Given the description of an element on the screen output the (x, y) to click on. 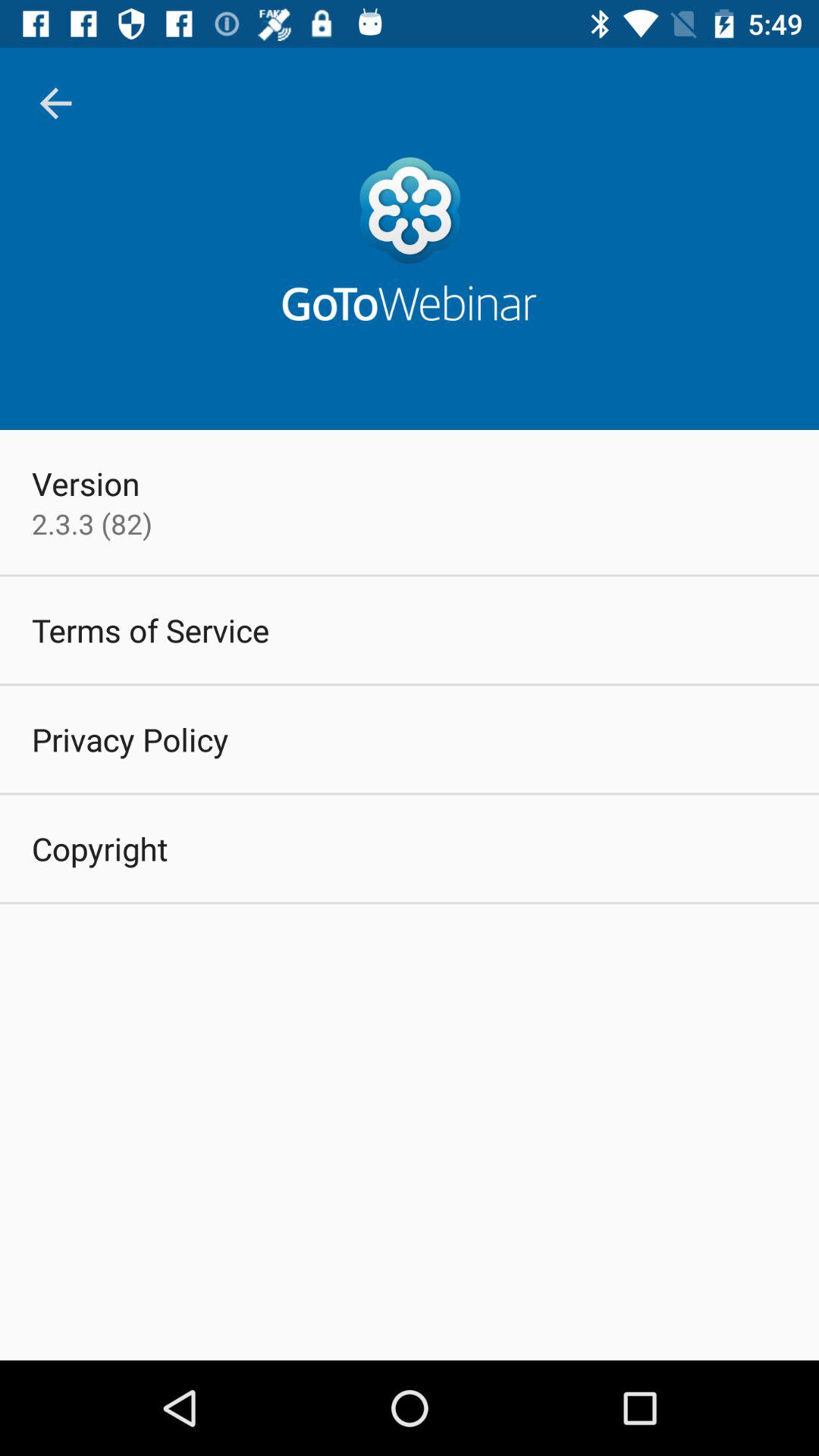
launch the 2 3 3 item (91, 523)
